Given the description of an element on the screen output the (x, y) to click on. 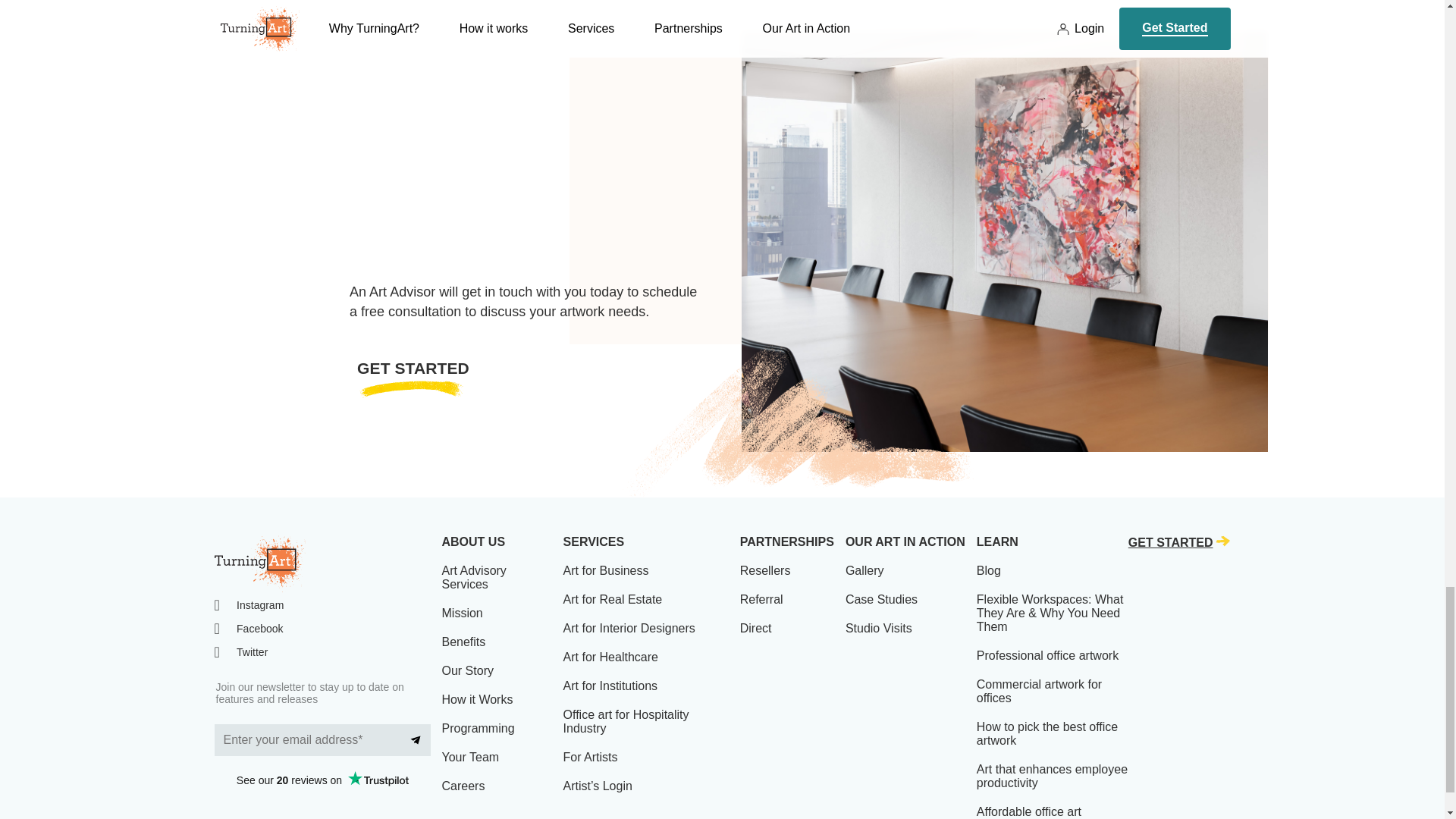
Customer reviews powered by Trustpilot (321, 780)
Submit (415, 739)
